Given the description of an element on the screen output the (x, y) to click on. 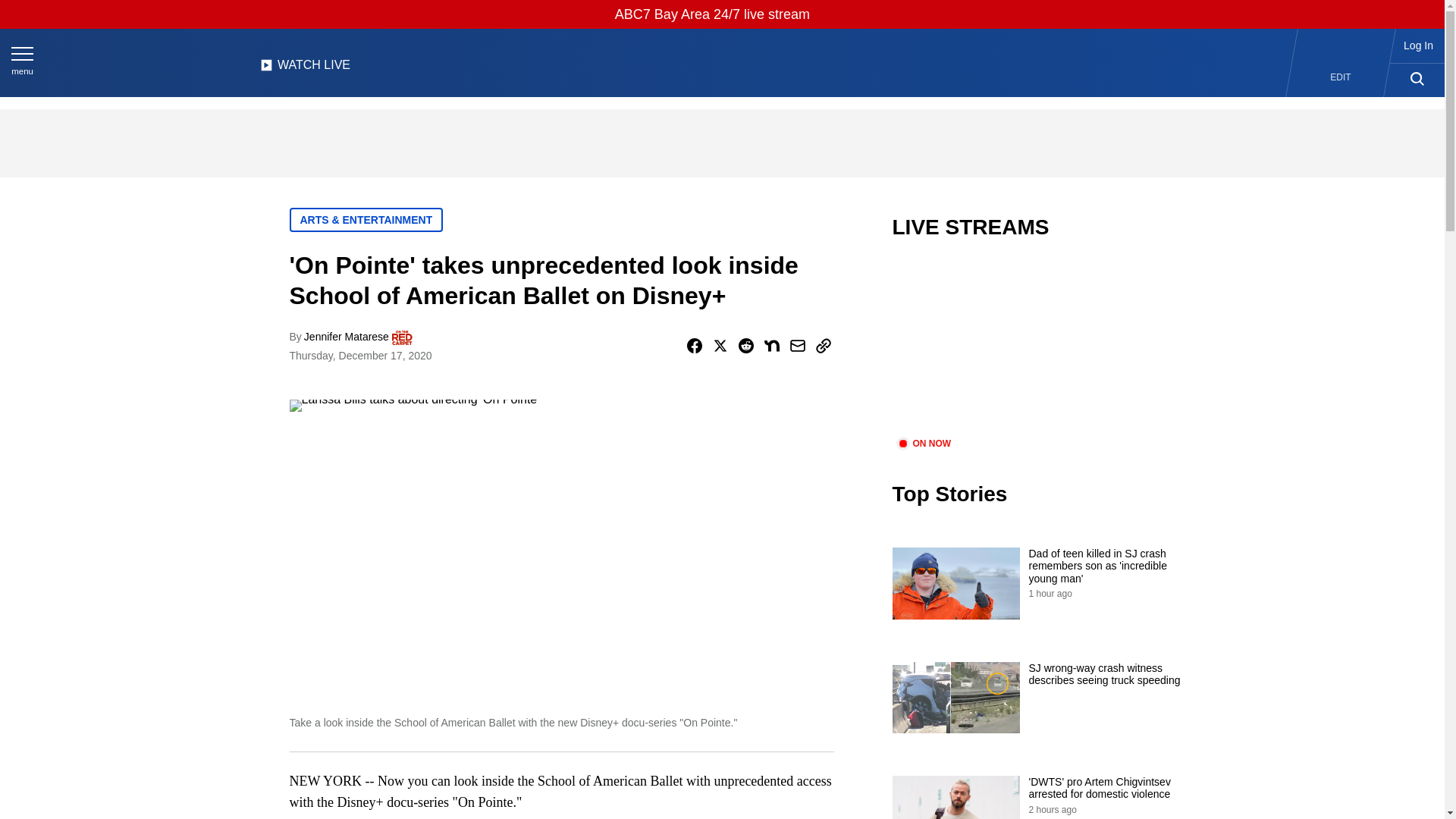
WATCH LIVE (305, 69)
EDIT (1340, 77)
video.title (1043, 347)
